Given the description of an element on the screen output the (x, y) to click on. 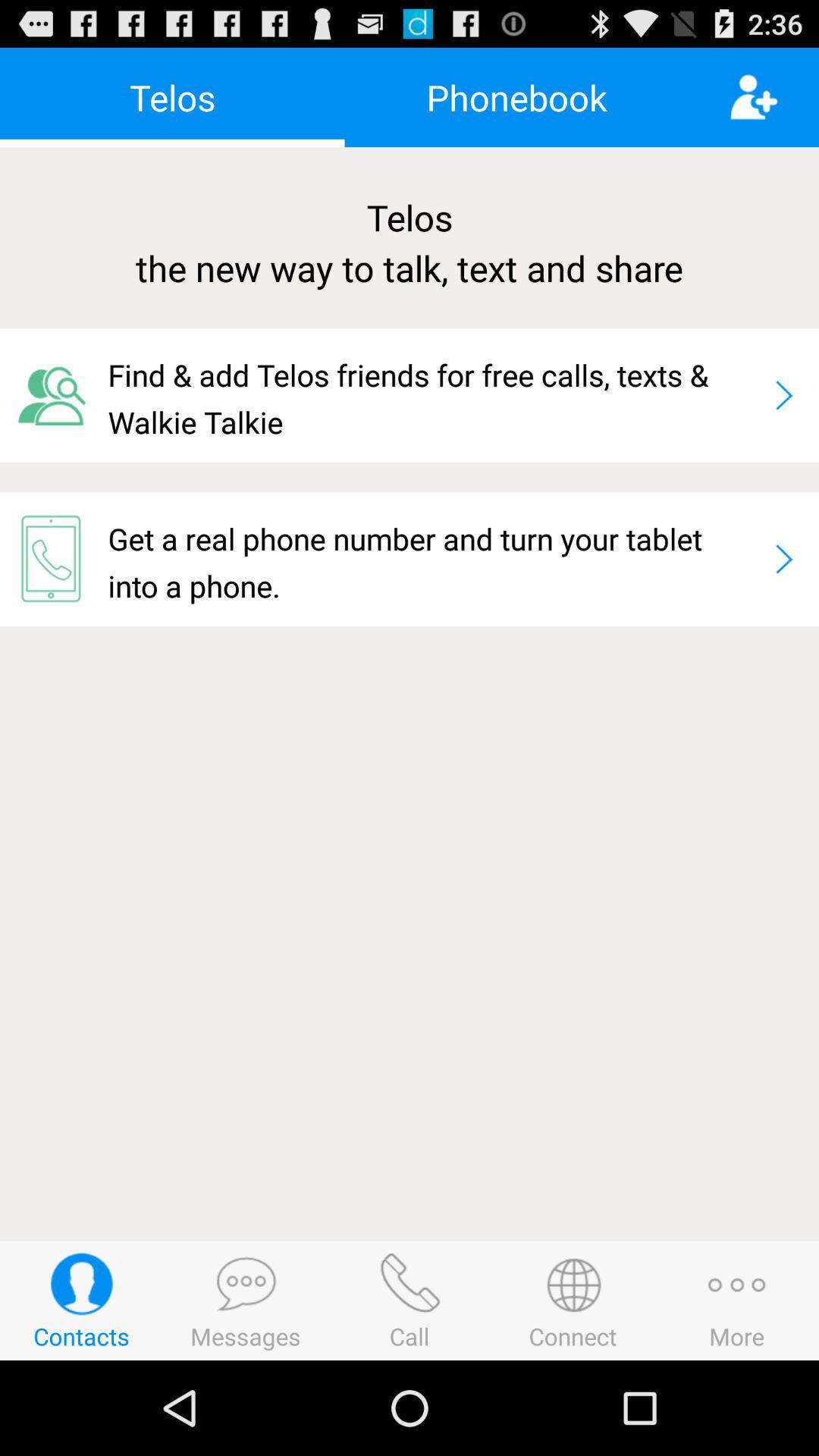
launch the icon below the telos the new icon (54, 395)
